Given the description of an element on the screen output the (x, y) to click on. 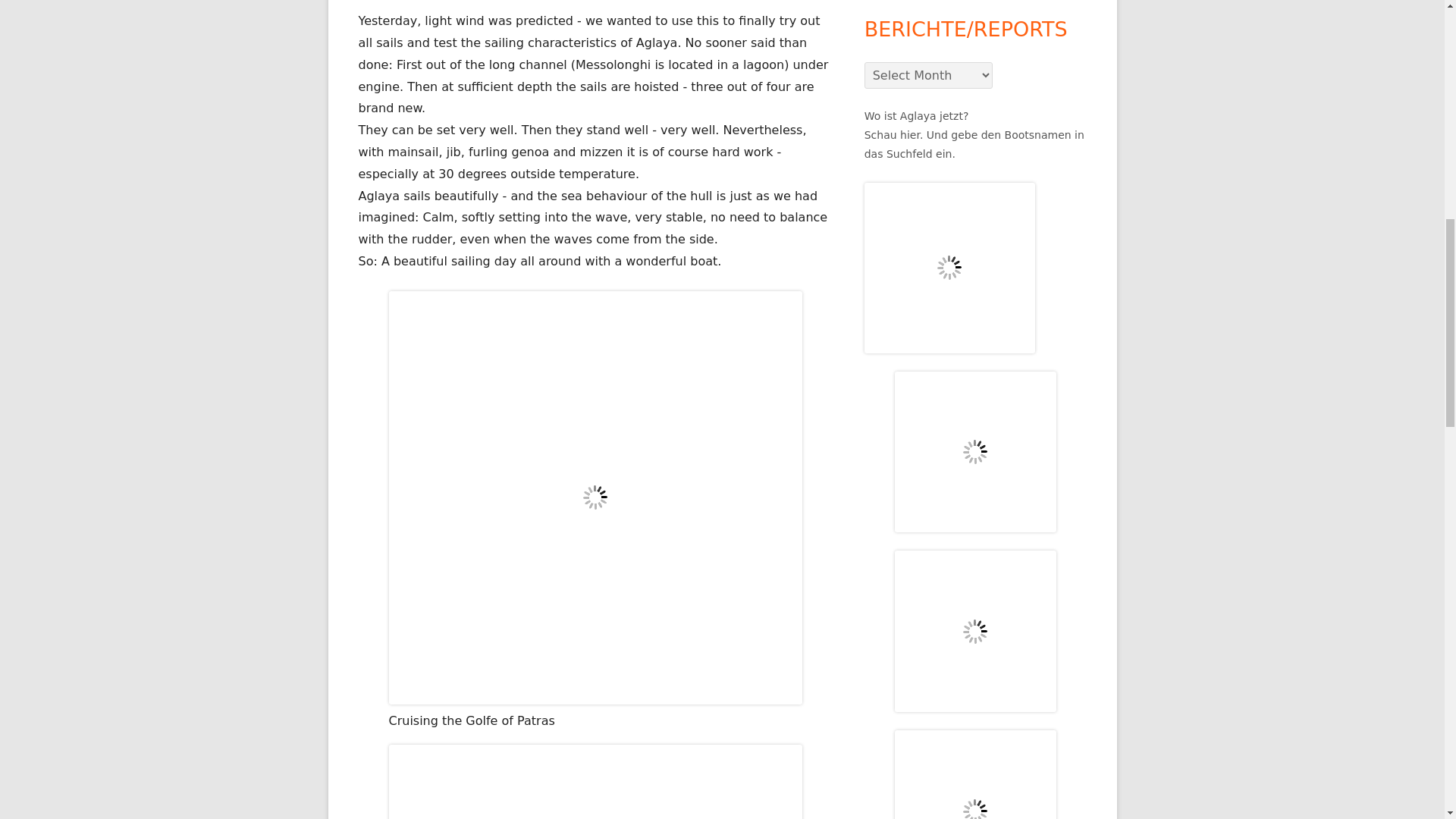
Schau hier. (893, 134)
